Given the description of an element on the screen output the (x, y) to click on. 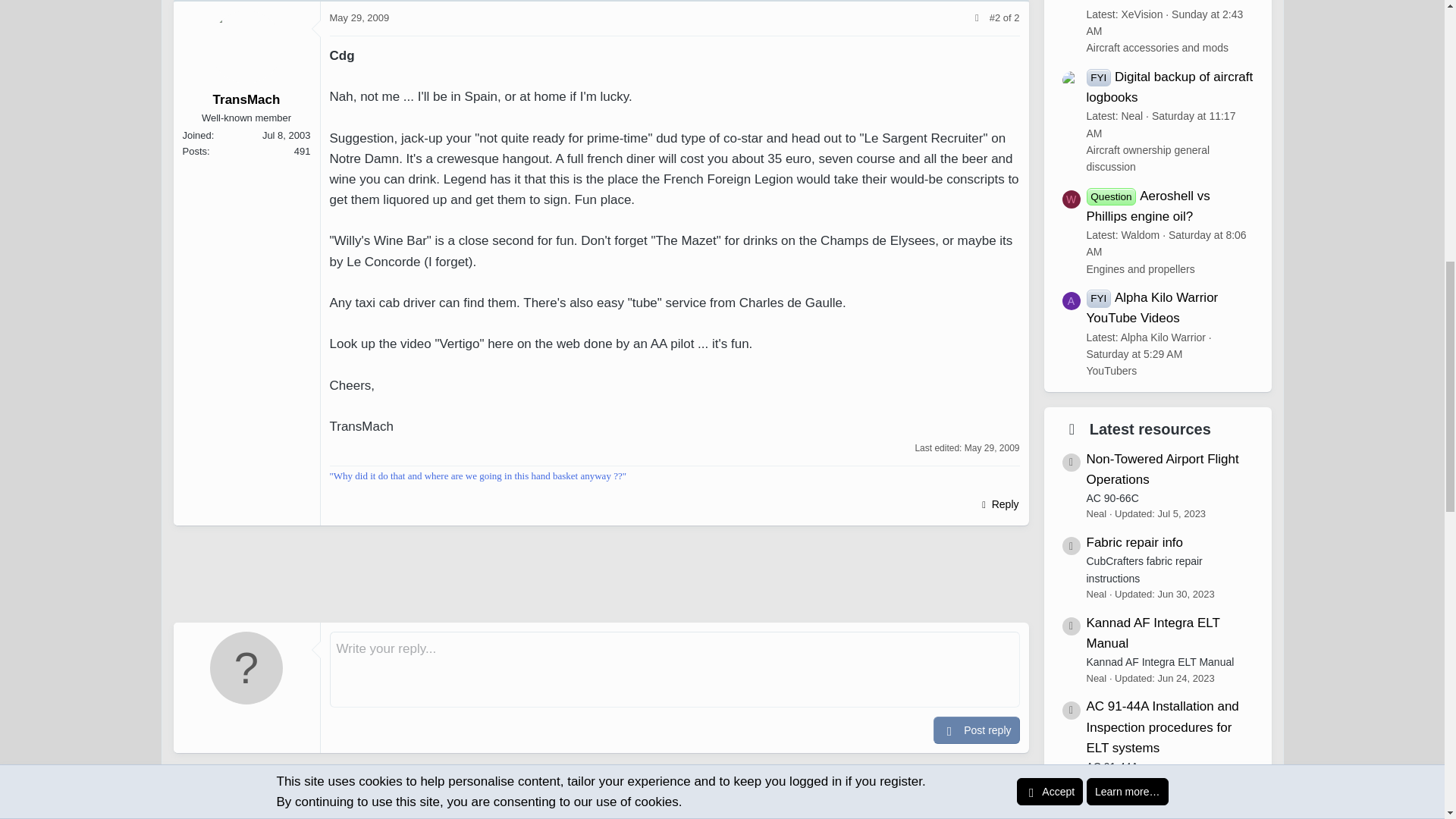
Jul 5, 2023 at 12:22 PM (1181, 505)
Jul 27, 2024 at 5:29 AM (1134, 346)
Reply, quoting this message (998, 504)
Jul 27, 2024 at 8:06 AM (1166, 235)
May 29, 2009 at 2:58 AM (358, 17)
Jul 28, 2024 at 2:43 AM (1164, 14)
Jul 27, 2024 at 11:17 AM (1160, 116)
May 29, 2009 at 3:35 AM (991, 448)
